Given the description of an element on the screen output the (x, y) to click on. 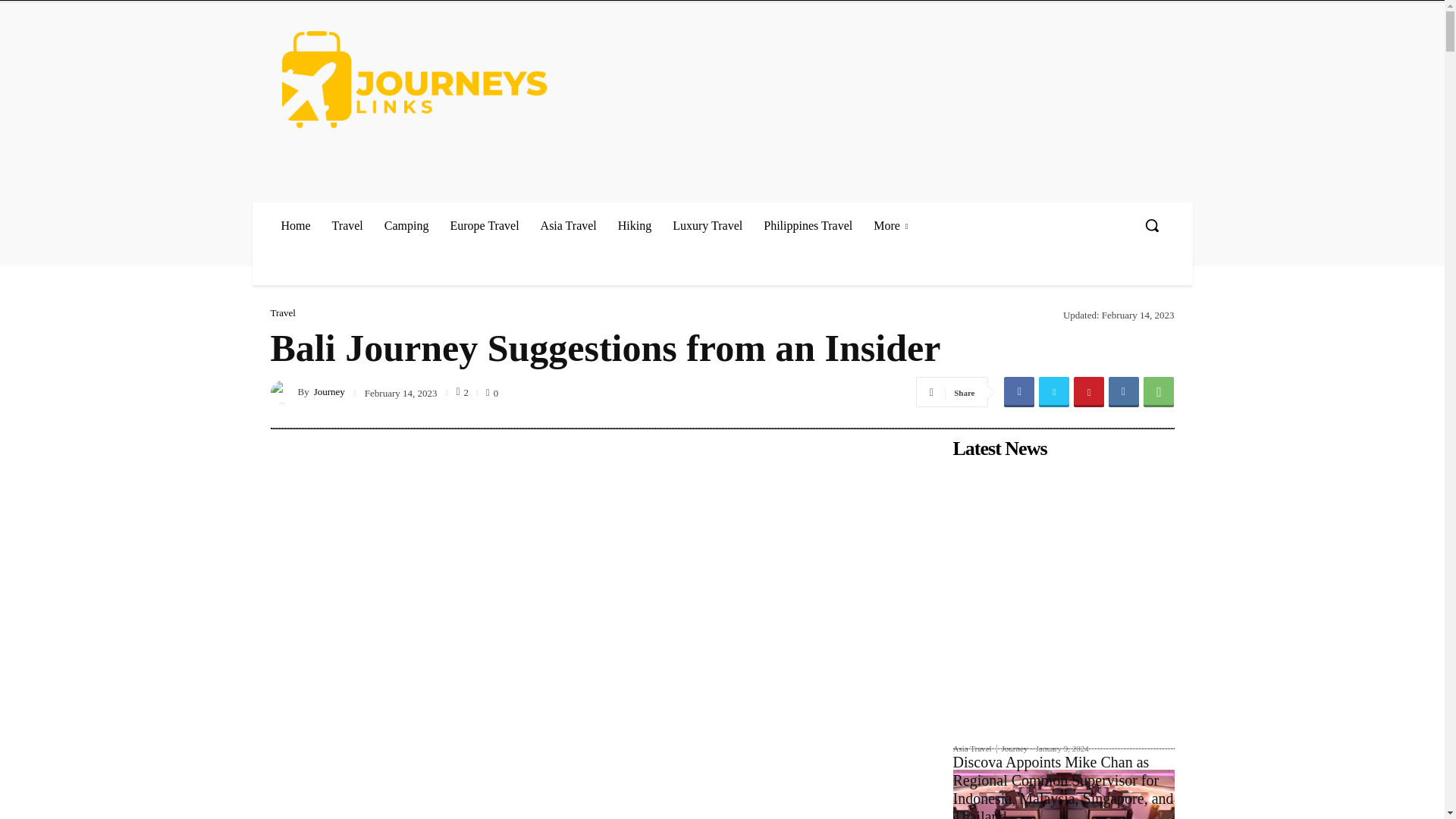
Home (294, 225)
Luxury Travel (707, 225)
More (890, 225)
Pinterest (1088, 391)
Philippines Travel (807, 225)
Europe Travel (484, 225)
Journey (283, 391)
Travel (347, 225)
Hiking (634, 225)
Asia Travel (568, 225)
Camping (406, 225)
WhatsApp (1157, 391)
VK (1123, 391)
Twitter (1053, 391)
Facebook (1018, 391)
